Given the description of an element on the screen output the (x, y) to click on. 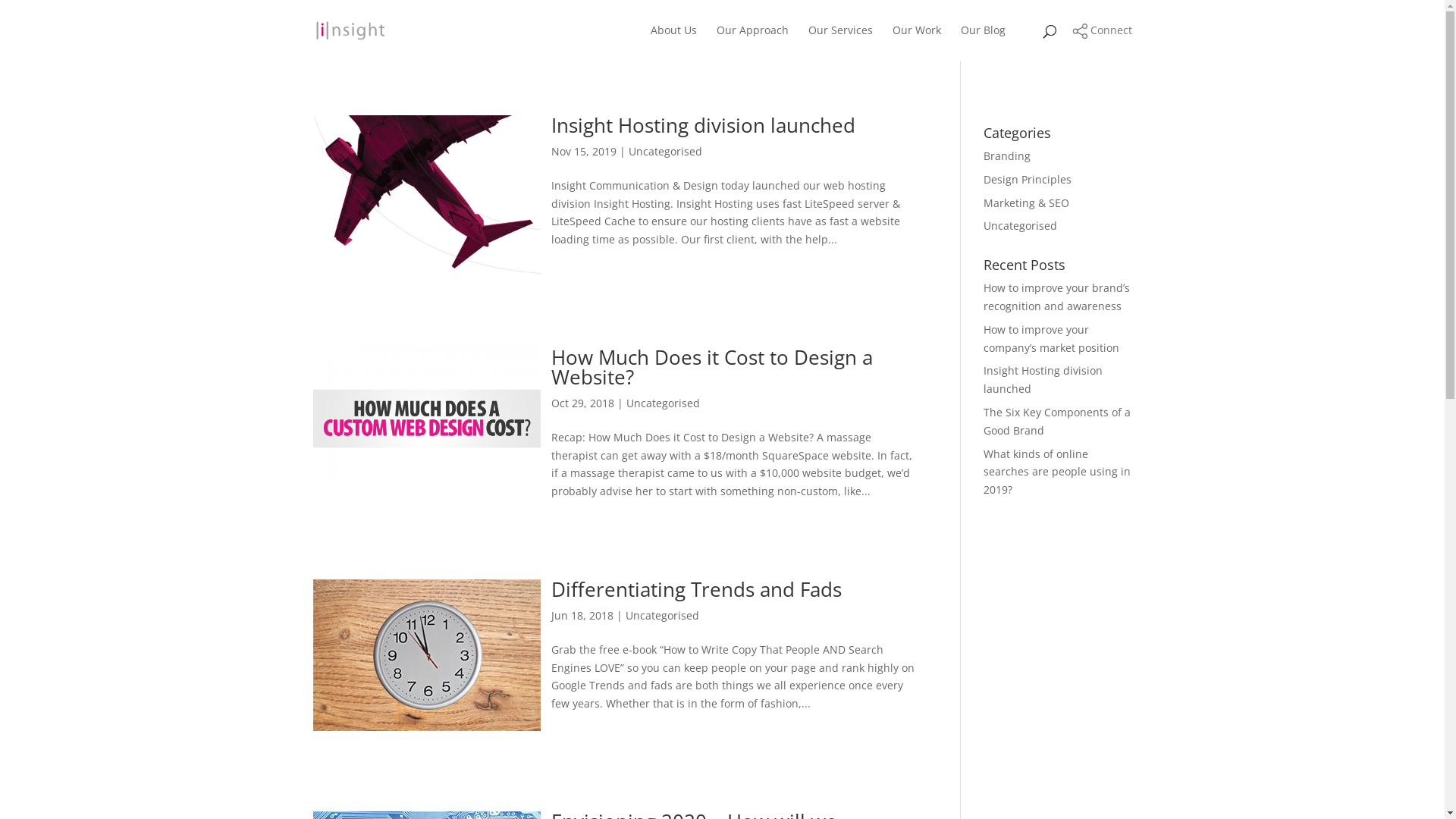
Uncategorised Element type: text (664, 151)
Branding Element type: text (1006, 155)
Differentiating Trends and Fads Element type: text (695, 588)
Design Principles Element type: text (1027, 179)
How Much Does it Cost to Design a Website? Element type: text (711, 366)
Our Approach Element type: text (751, 42)
Connect Element type: text (1102, 29)
Uncategorised Element type: text (1020, 225)
Marketing & SEO Element type: text (1026, 202)
Our Work Element type: text (915, 42)
Insight Hosting division launched Element type: text (702, 124)
Uncategorised Element type: text (662, 402)
Insight Hosting division launched Element type: text (1042, 379)
What kinds of online searches are people using in 2019? Element type: text (1056, 471)
About Us Element type: text (673, 42)
Uncategorised Element type: text (661, 615)
Our Services Element type: text (840, 42)
Our Blog Element type: text (982, 42)
The Six Key Components of a Good Brand Element type: text (1056, 420)
